Given the description of an element on the screen output the (x, y) to click on. 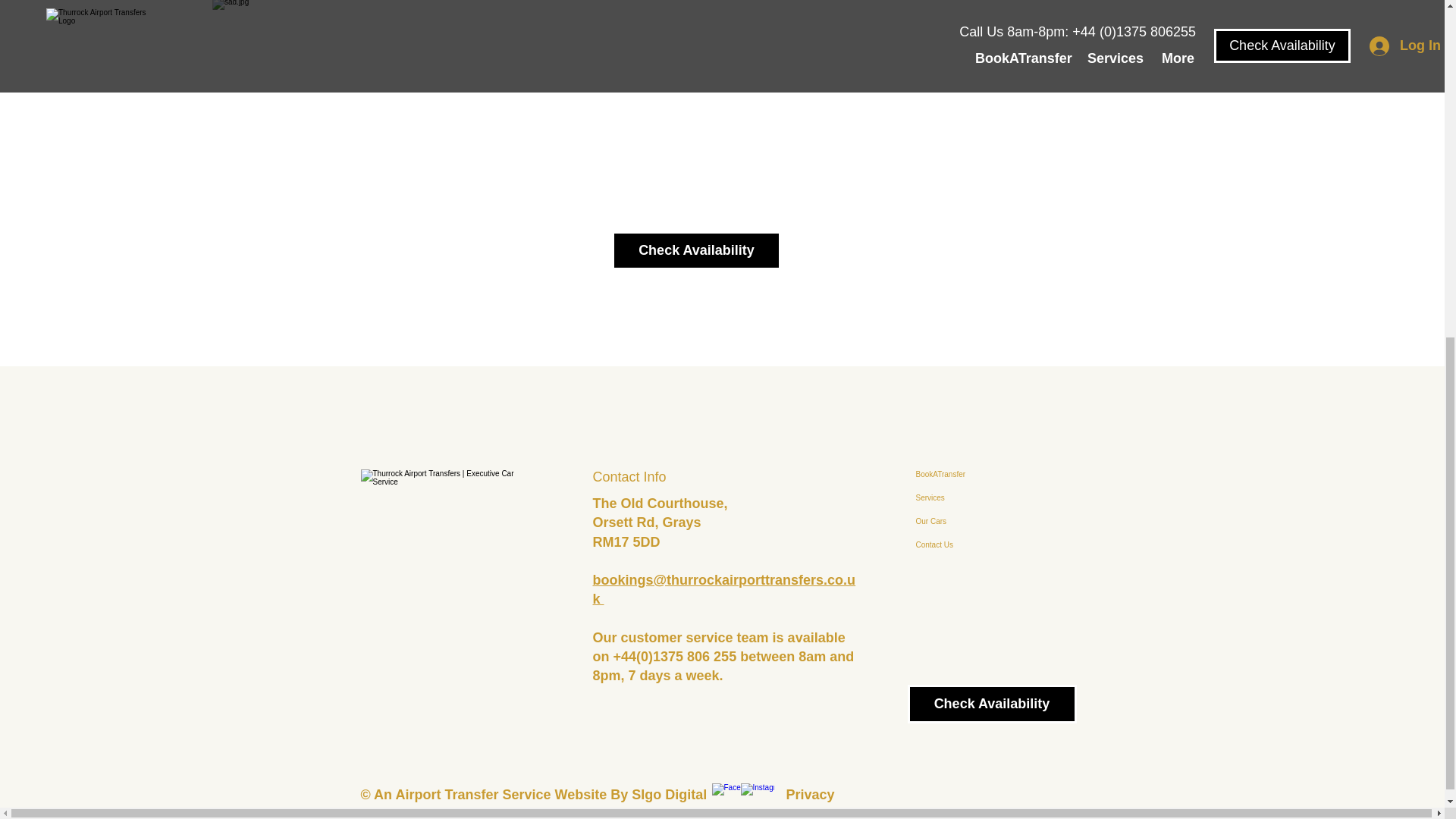
Contact Us (950, 544)
BookATransfer (950, 474)
Our Cars (950, 521)
Check Availability (991, 703)
Contact Info (629, 476)
Privacy (810, 794)
Check Availability (695, 250)
